Given the description of an element on the screen output the (x, y) to click on. 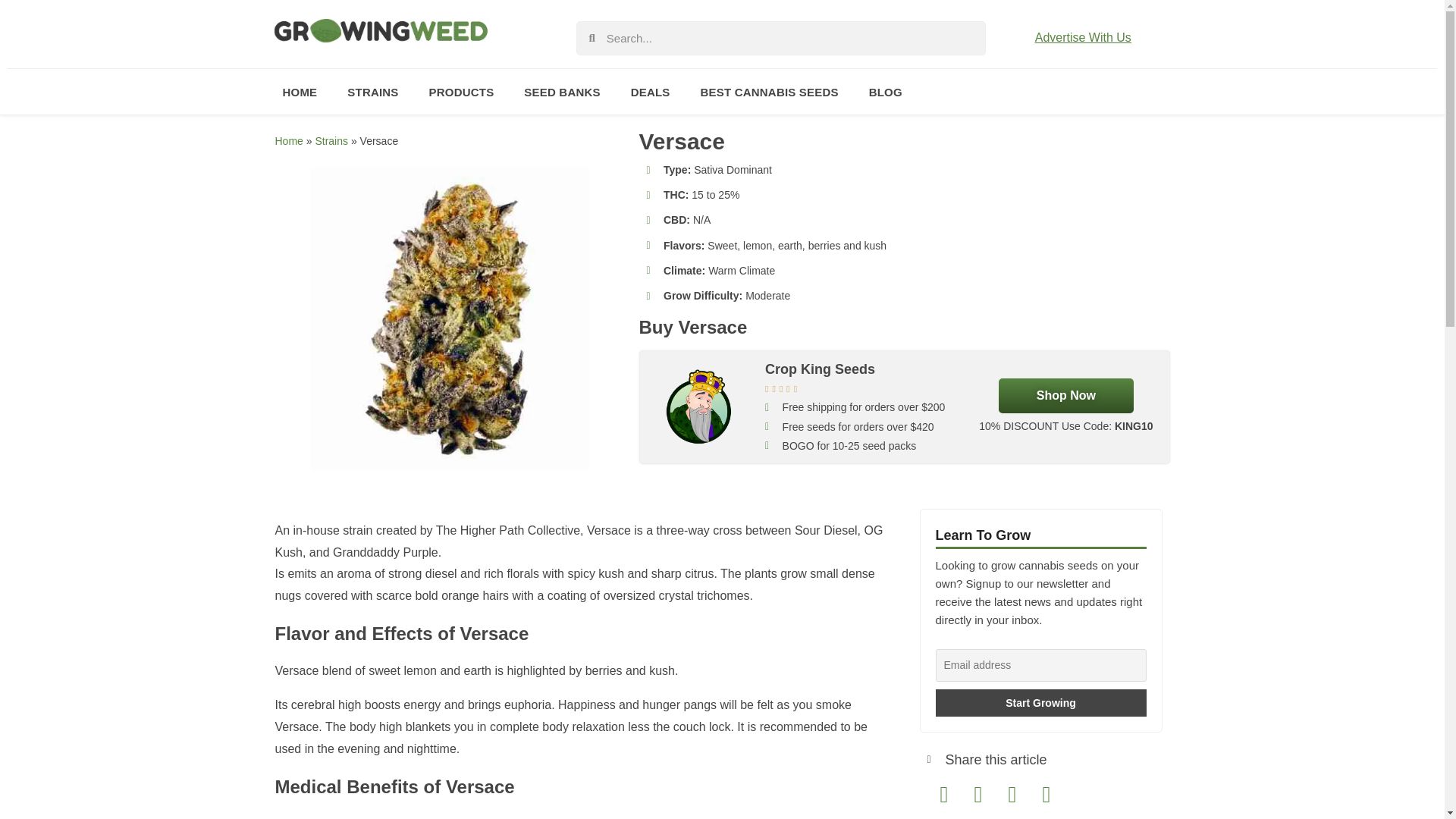
Crop King Seeds (698, 407)
BLOG (885, 91)
Crop King Seeds (820, 368)
SEED BANKS (561, 91)
STRAINS (372, 91)
PRODUCTS (461, 91)
Crop King Seeds (1066, 395)
HOME (298, 91)
BEST CANNABIS SEEDS (769, 91)
Advertise With Us (1083, 37)
